Given the description of an element on the screen output the (x, y) to click on. 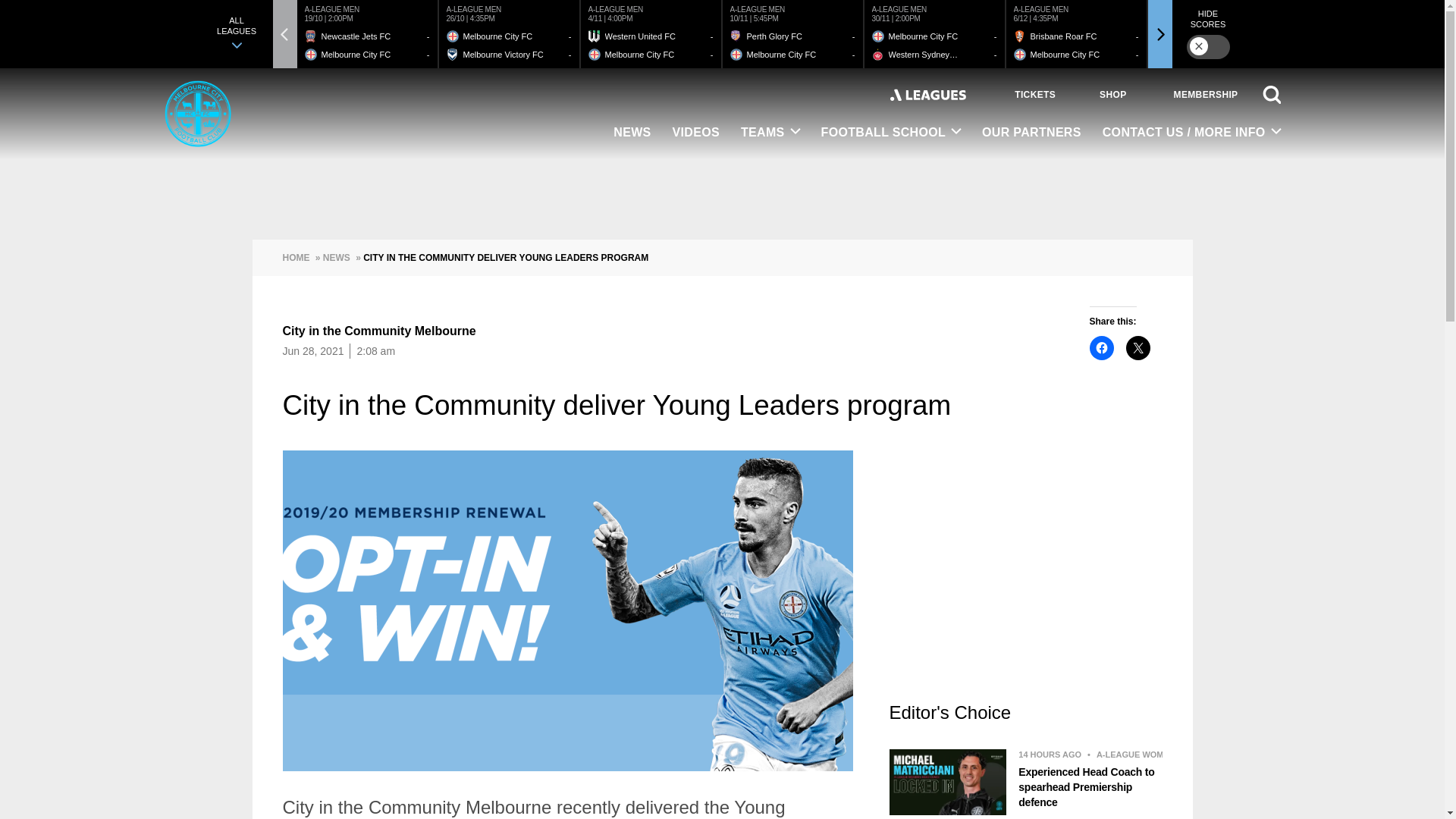
Click to share on X (1137, 347)
Click to share on Facebook (1101, 347)
NEWS (631, 133)
VIDEOS (696, 133)
TEAMS (770, 132)
